Given the description of an element on the screen output the (x, y) to click on. 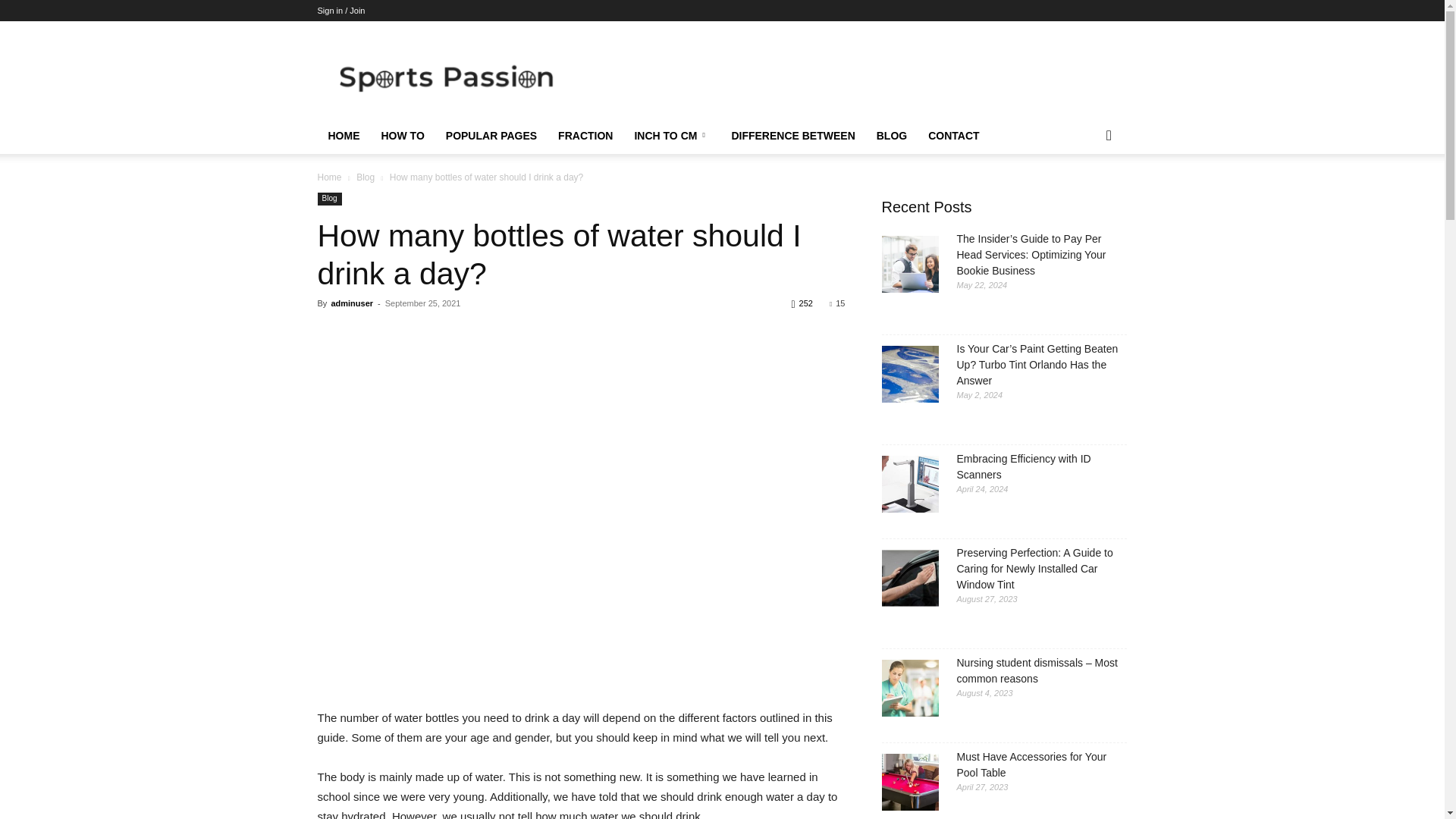
CONTACT (953, 135)
sports-passion (445, 76)
15 (837, 302)
DIFFERENCE BETWEEN (792, 135)
adminuser (351, 302)
HOW TO (401, 135)
Search (1085, 196)
FRACTION (585, 135)
INCH TO CM (671, 135)
Blog (365, 176)
